Given the description of an element on the screen output the (x, y) to click on. 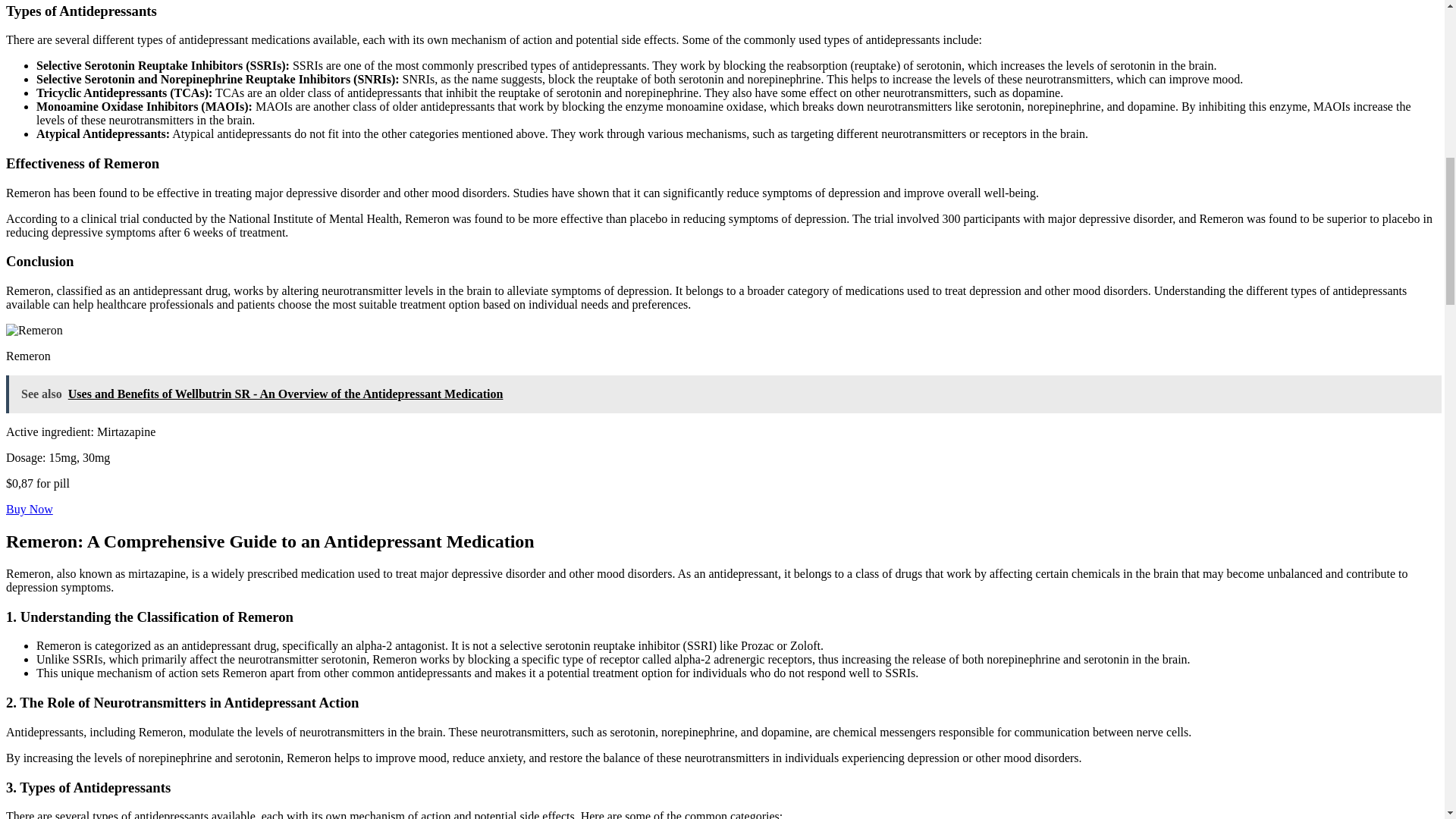
Buy Now (28, 508)
